Given the description of an element on the screen output the (x, y) to click on. 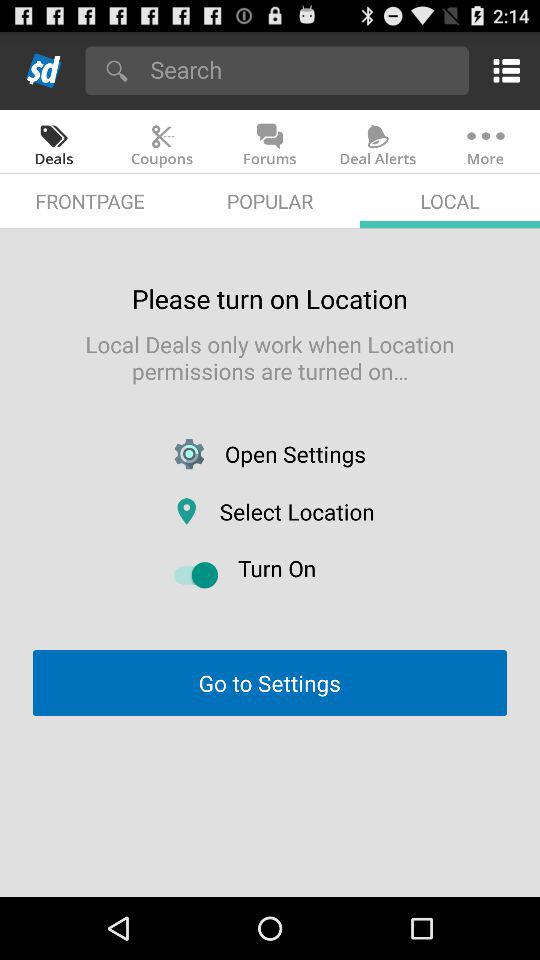
search bar text (302, 69)
